Given the description of an element on the screen output the (x, y) to click on. 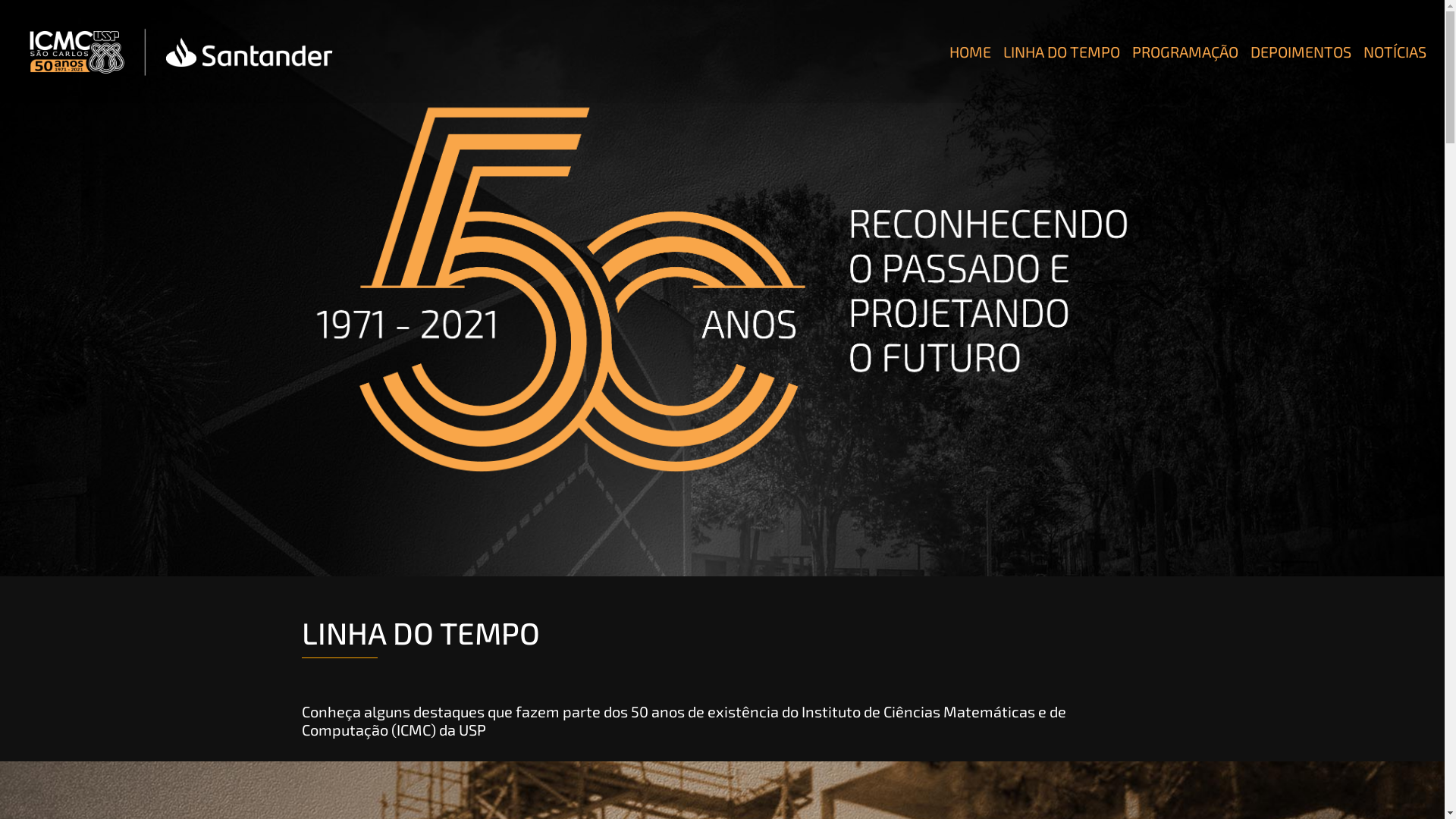
HOME Element type: text (970, 51)
LINHA DO TEMPO Element type: text (1061, 51)
DEPOIMENTOS Element type: text (1300, 51)
